Given the description of an element on the screen output the (x, y) to click on. 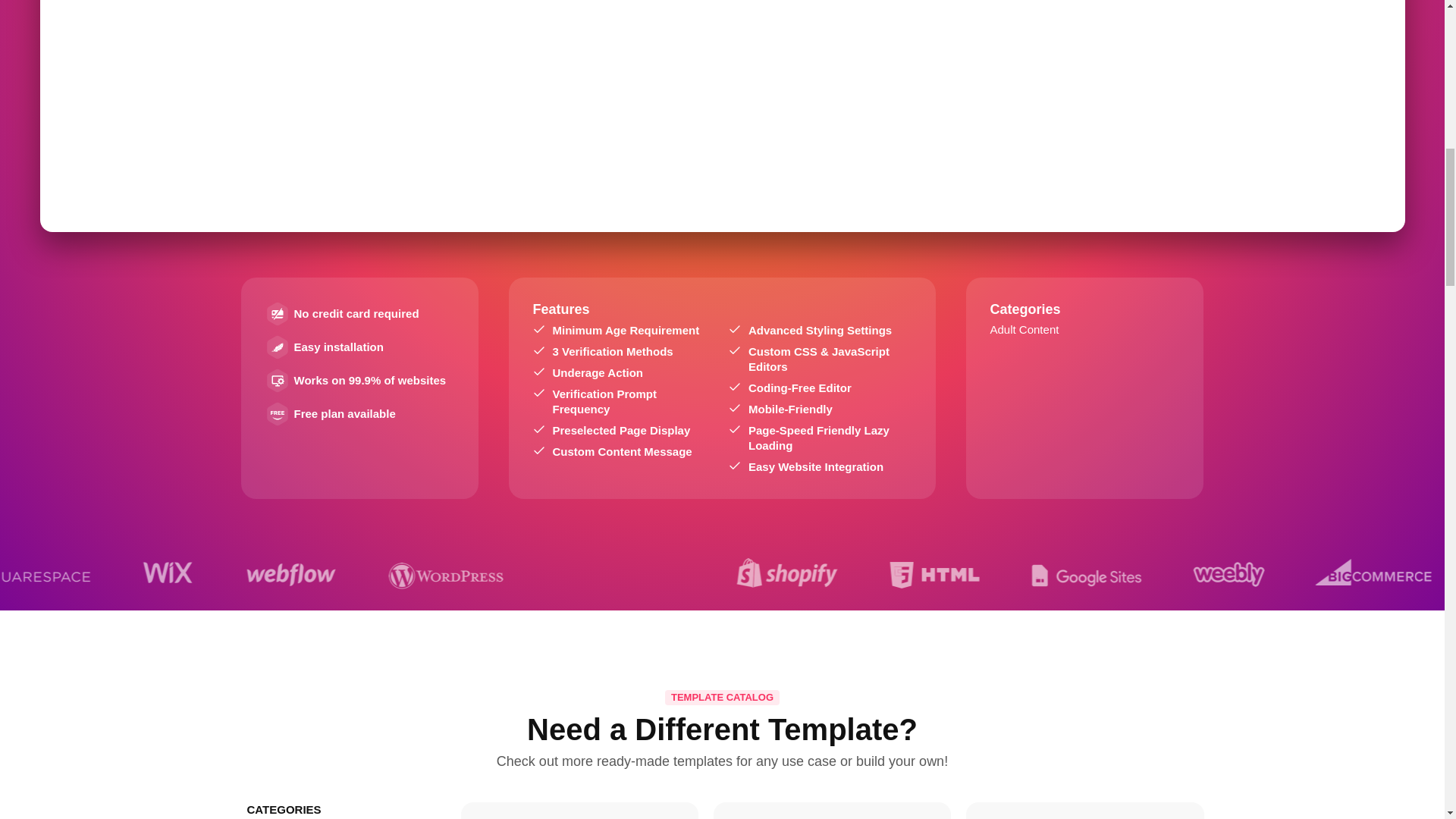
Adult Verification (832, 815)
Webcam Model Age Verification (579, 815)
Only Girl Videos Website Age Verification (1084, 815)
